Given the description of an element on the screen output the (x, y) to click on. 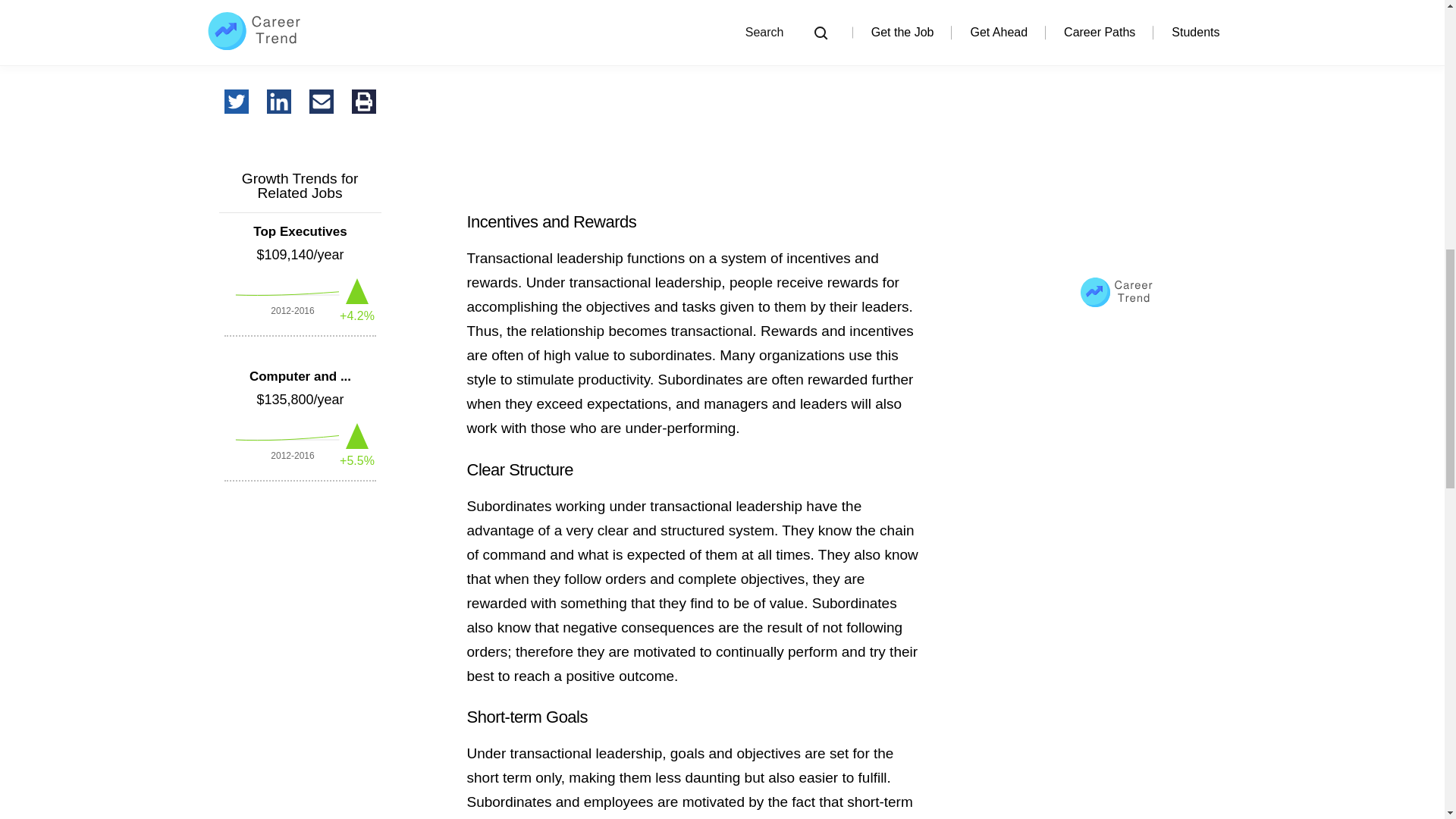
Advertisement (693, 96)
